Given the description of an element on the screen output the (x, y) to click on. 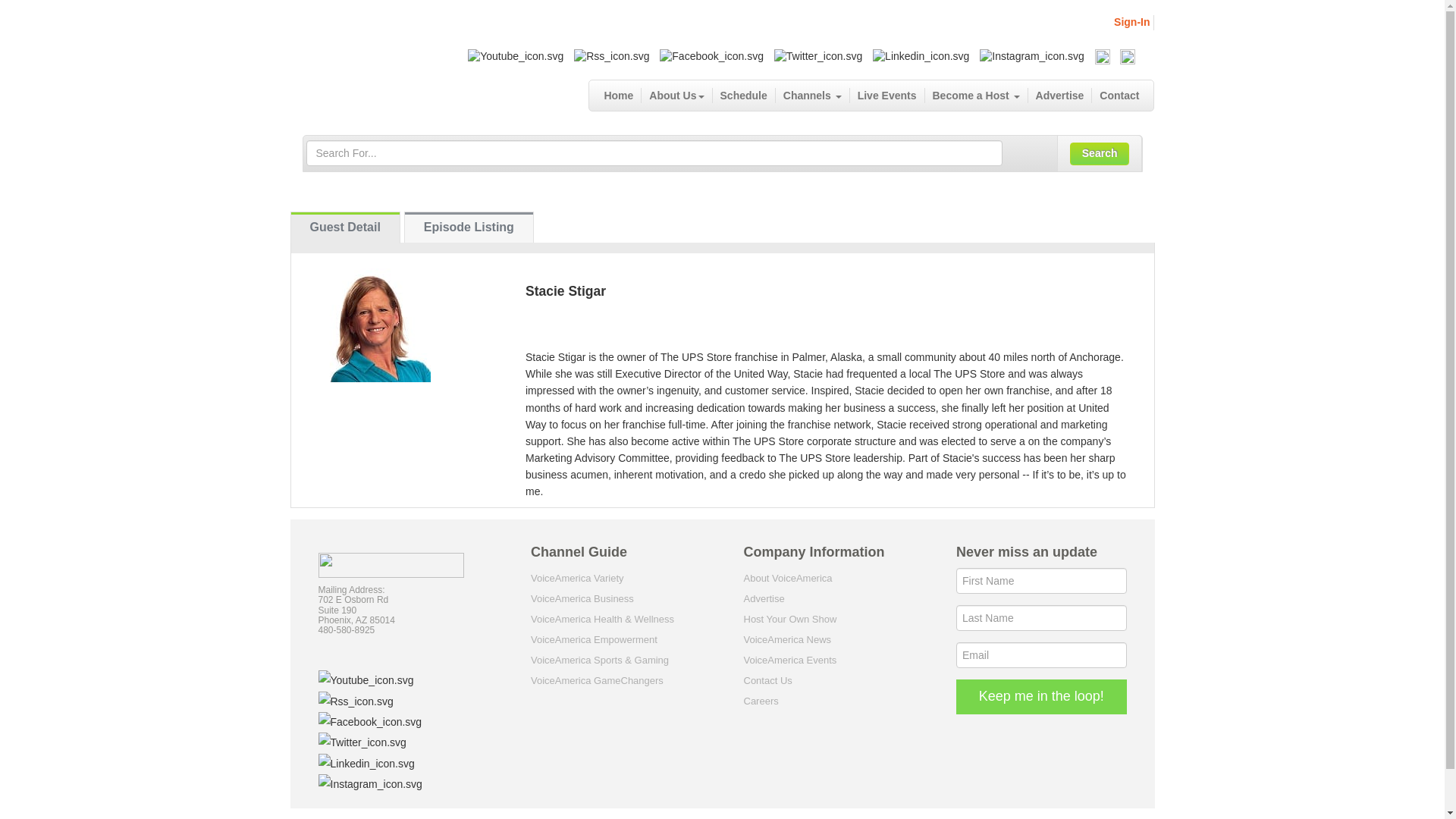
guest-episodes (468, 227)
Channels (813, 95)
Sign-In (1131, 21)
VoiceAmerica GameChangers (597, 680)
Search (1099, 153)
Host Your Own Show (788, 618)
Contact Us (767, 680)
VoiceAmerica Variety (577, 577)
Become a Host (975, 95)
Guest Detail (344, 227)
Advertise (763, 598)
Episode Listing (468, 227)
VoiceAmerica Events (788, 659)
About Us (676, 95)
Live Events (887, 95)
